Given the description of an element on the screen output the (x, y) to click on. 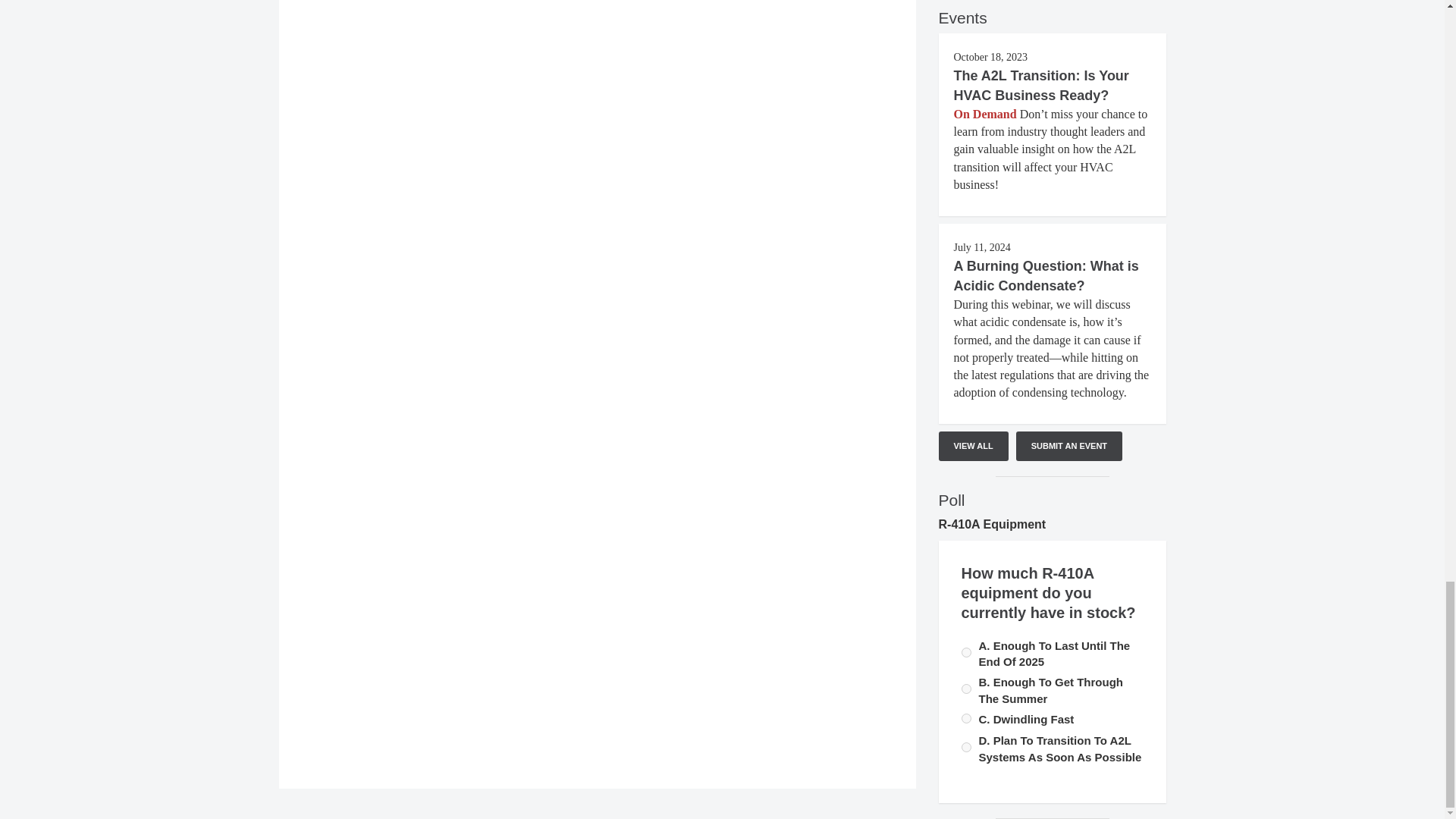
A Burning Question: What is Acidic Condensate? (1045, 275)
596 (965, 688)
597 (965, 652)
599 (965, 747)
598 (965, 718)
The A2L Transition: Is Your HVAC Business Ready? (1041, 85)
